Given the description of an element on the screen output the (x, y) to click on. 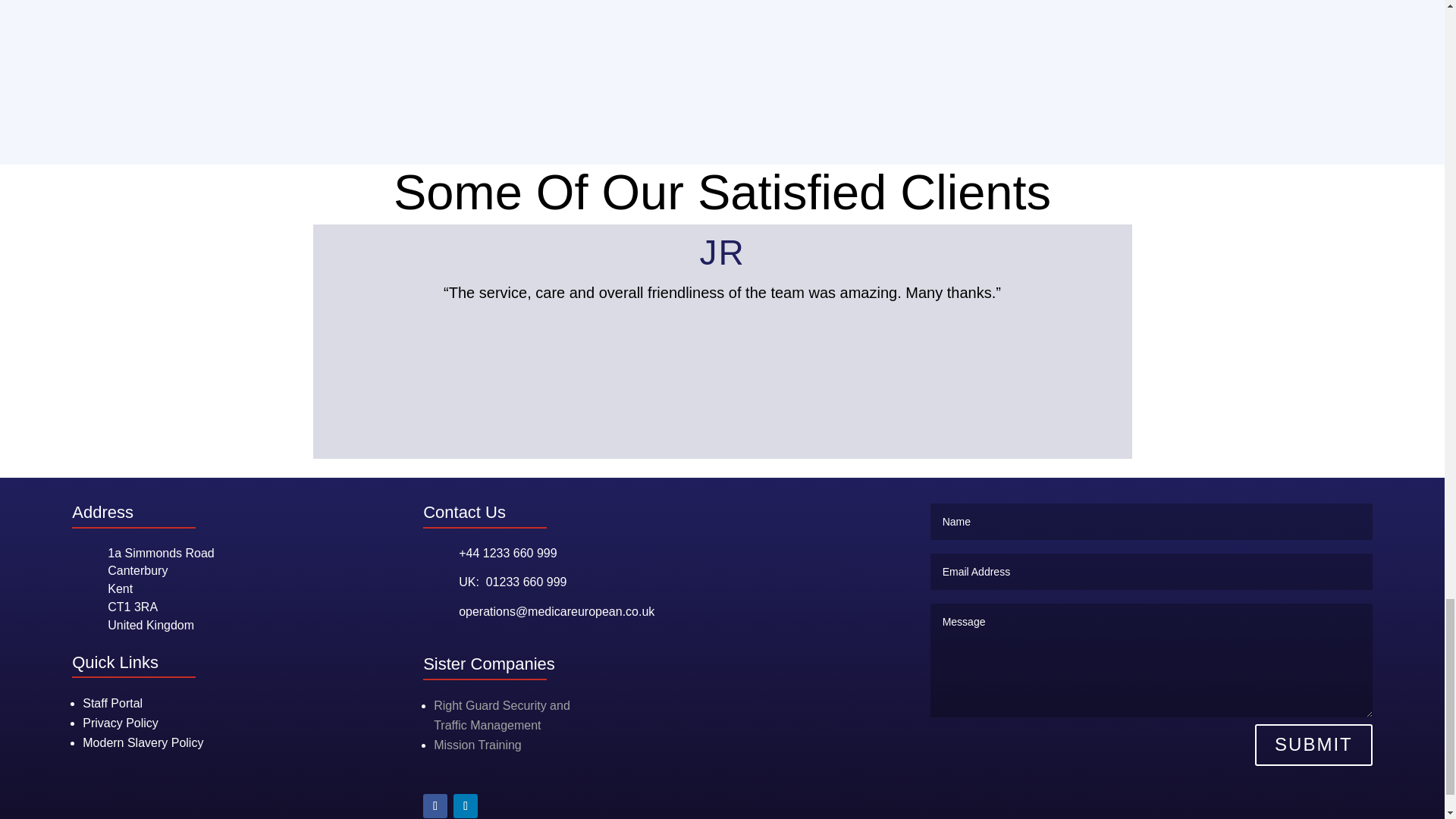
Privacy Policy (120, 722)
SUBMIT (1314, 744)
Follow on LinkedIn (464, 805)
Modern Slavery Policy (142, 742)
Follow on Facebook (434, 805)
Staff Portal (501, 715)
Mission Training (112, 703)
flags (477, 744)
jjjj (722, 48)
